Given the description of an element on the screen output the (x, y) to click on. 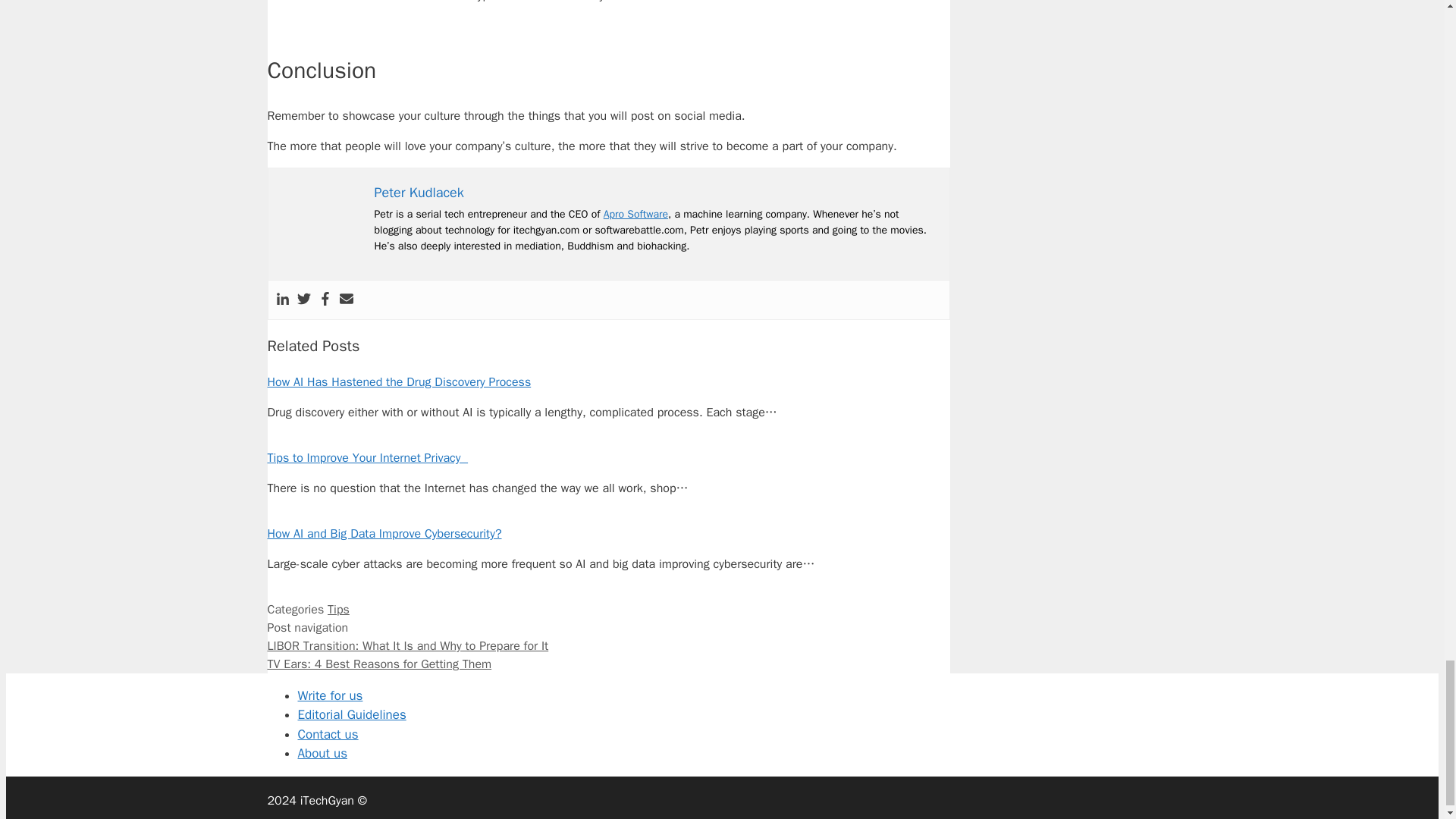
Peter Kudlacek (419, 192)
Tips to Improve Your Internet Privacy   (366, 458)
Tips (338, 609)
How AI and Big Data Improve Cybersecurity? (383, 533)
Apro Software (636, 214)
LIBOR Transition: What It Is and Why to Prepare for It (407, 645)
TV Ears: 4 Best Reasons for Getting Them (379, 663)
Next (379, 663)
Previous (407, 645)
How AI Has Hastened the Drug Discovery Process (398, 381)
